Given the description of an element on the screen output the (x, y) to click on. 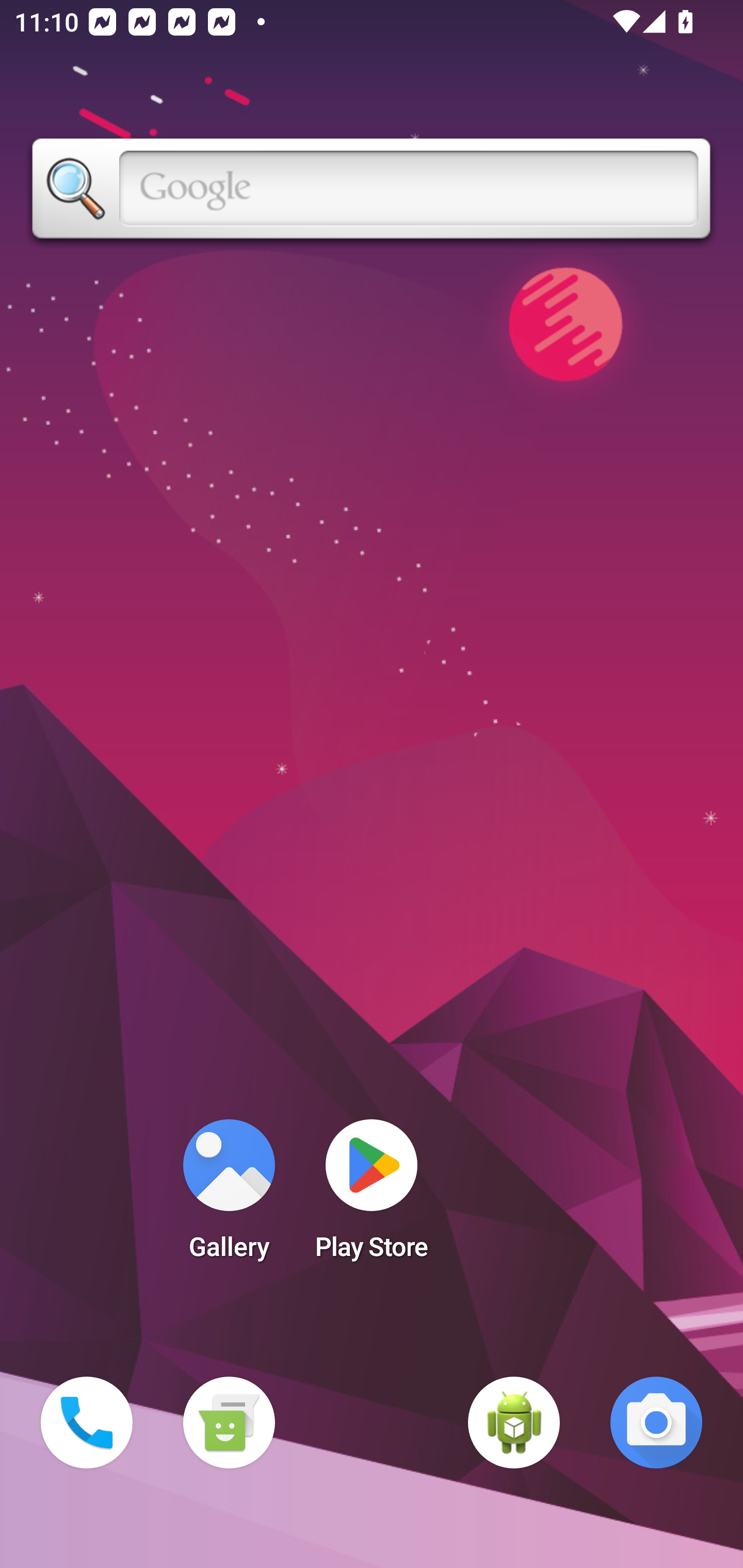
Gallery (228, 1195)
Play Store (371, 1195)
Phone (86, 1422)
Messaging (228, 1422)
WebView Browser Tester (513, 1422)
Camera (656, 1422)
